Given the description of an element on the screen output the (x, y) to click on. 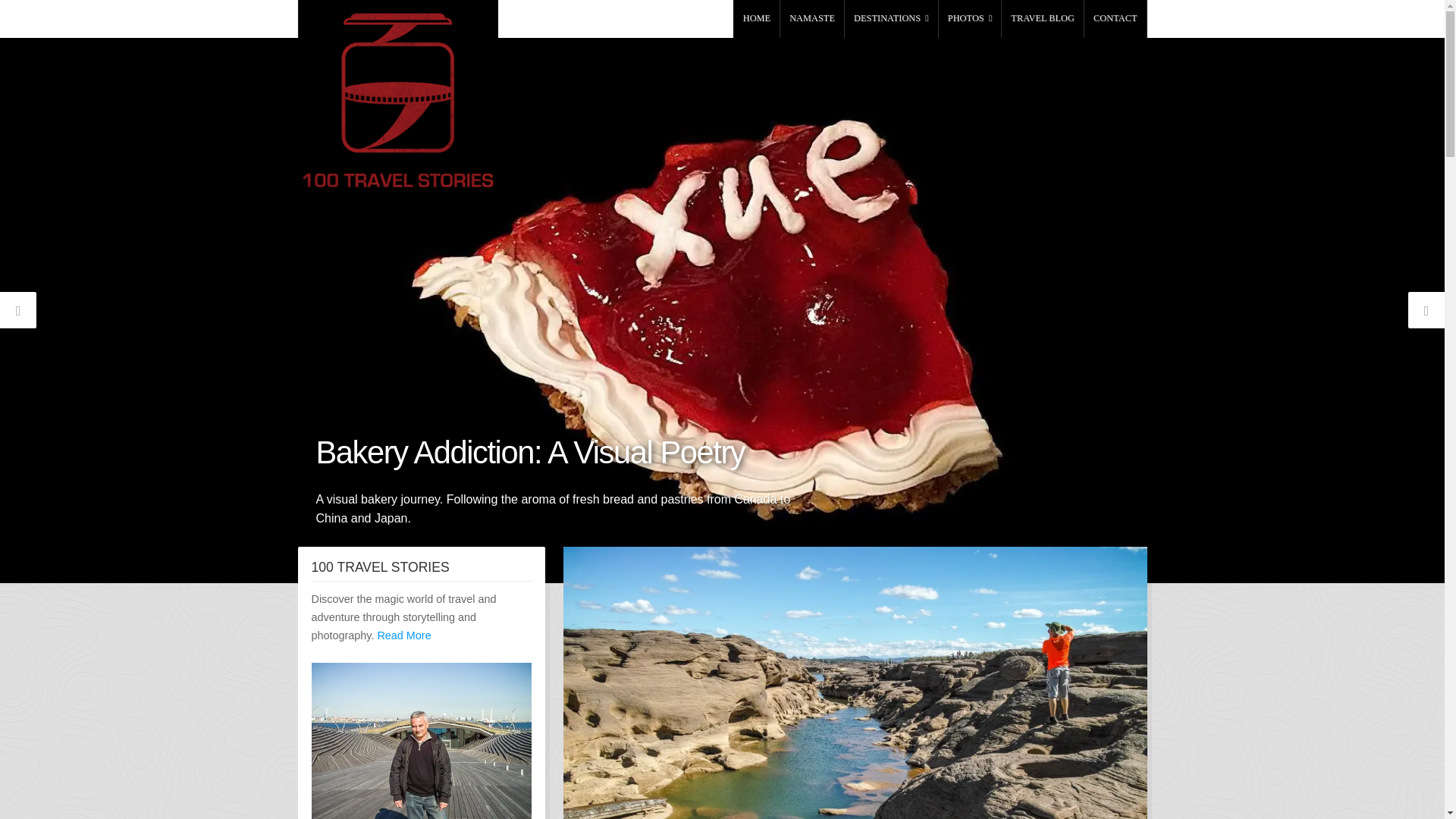
TRAVEL BLOG (1042, 18)
About Us (812, 18)
DESTINATIONS (890, 18)
Contact (1115, 18)
Permalink to Bakery Addiction: A Visual Poetry (529, 452)
Read More (403, 635)
PHOTOS (970, 18)
Home (755, 18)
Travel Blog (1042, 18)
CONTACT (1115, 18)
NAMASTE (812, 18)
HOME (755, 18)
Bakery Addiction: A Visual Poetry (529, 452)
